Given the description of an element on the screen output the (x, y) to click on. 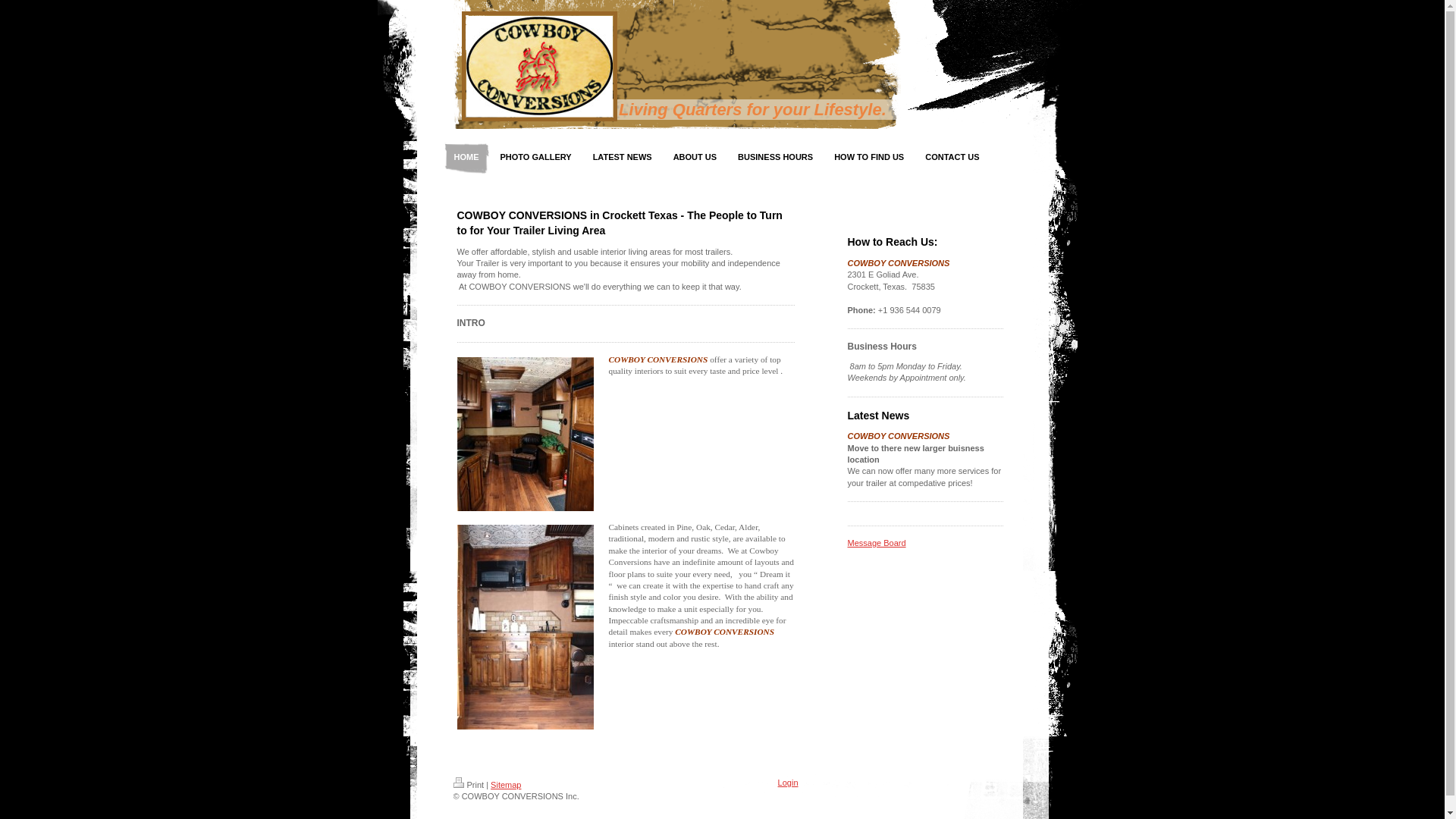
BUSINESS HOURS (775, 157)
Message Board (876, 542)
HOME (465, 157)
Sitemap (505, 784)
LATEST NEWS (622, 157)
Print (468, 784)
HOW TO FIND US (869, 157)
PHOTO GALLERY (535, 157)
Living Quarters for your Lifestyle. (752, 108)
ABOUT US (694, 157)
CONTACT US (952, 157)
Login (787, 782)
